Given the description of an element on the screen output the (x, y) to click on. 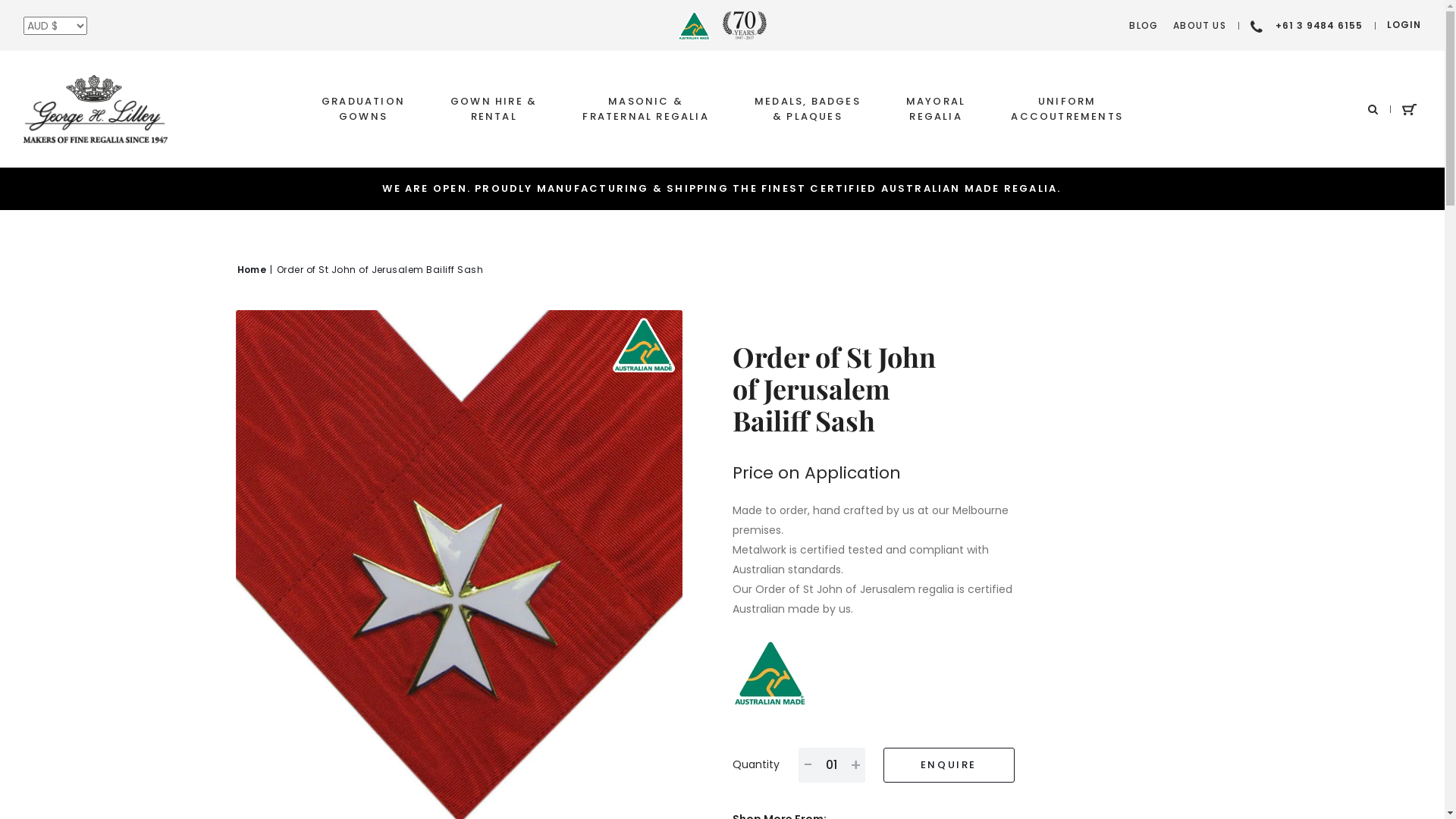
Home Element type: text (251, 269)
MASONIC &
FRATERNAL REGALIA Element type: text (645, 108)
MEDALS, BADGES
& PLAQUES Element type: text (807, 108)
- Element type: text (806, 764)
+ Element type: text (855, 764)
BLOG Element type: text (1143, 25)
UNIFORM
ACCOUTREMENTS Element type: text (1066, 108)
ABOUT US Element type: text (1199, 25)
MAYORAL
REGALIA Element type: text (935, 108)
GRADUATION
GOWNS Element type: text (362, 108)
ENQUIRE Element type: text (947, 764)
+61 3 9484 6155 Element type: text (1306, 25)
GOWN HIRE &
RENTAL Element type: text (493, 108)
LOGIN Element type: text (1403, 25)
